Given the description of an element on the screen output the (x, y) to click on. 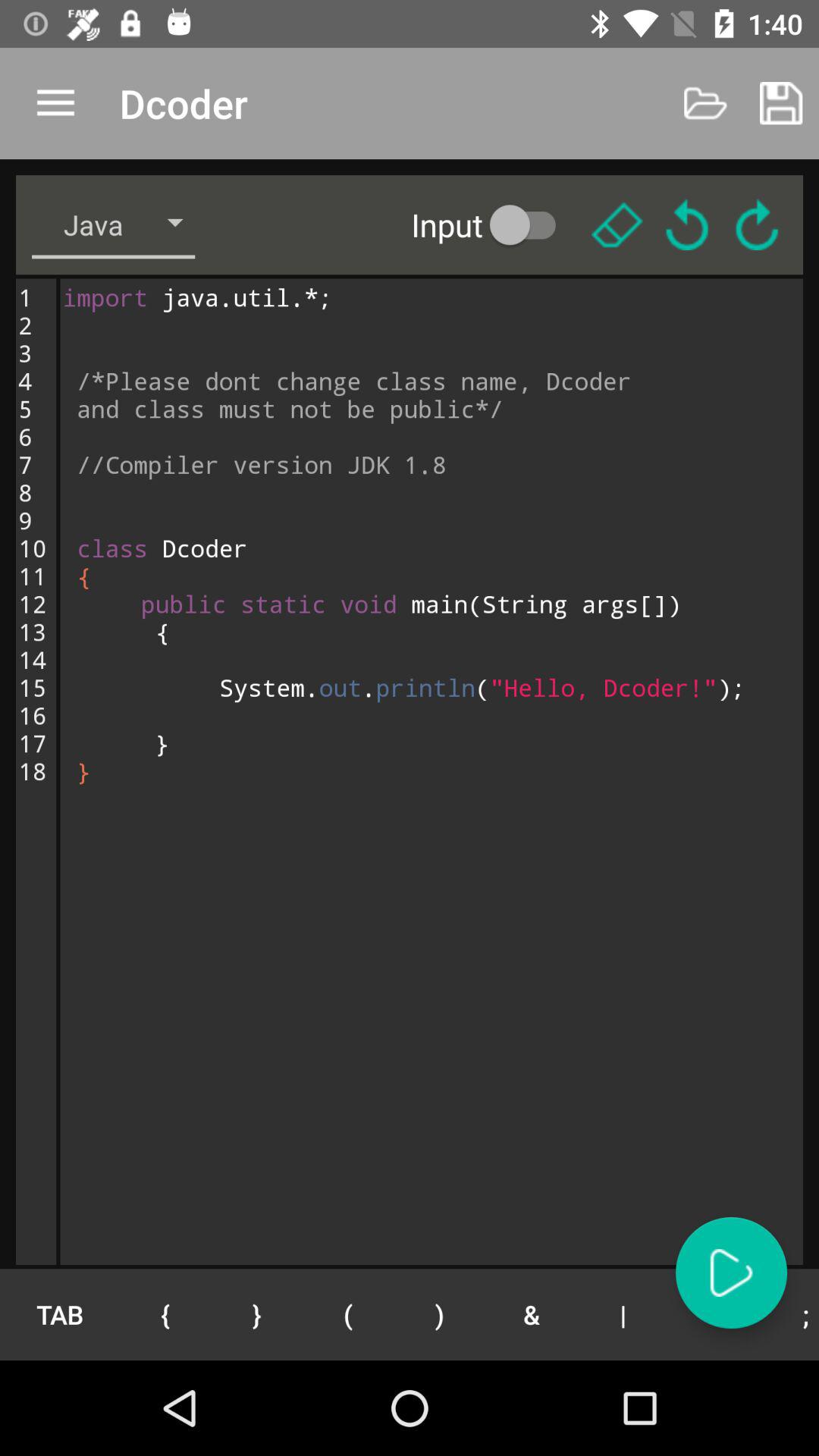
select the 1 2 3 (35, 771)
